Given the description of an element on the screen output the (x, y) to click on. 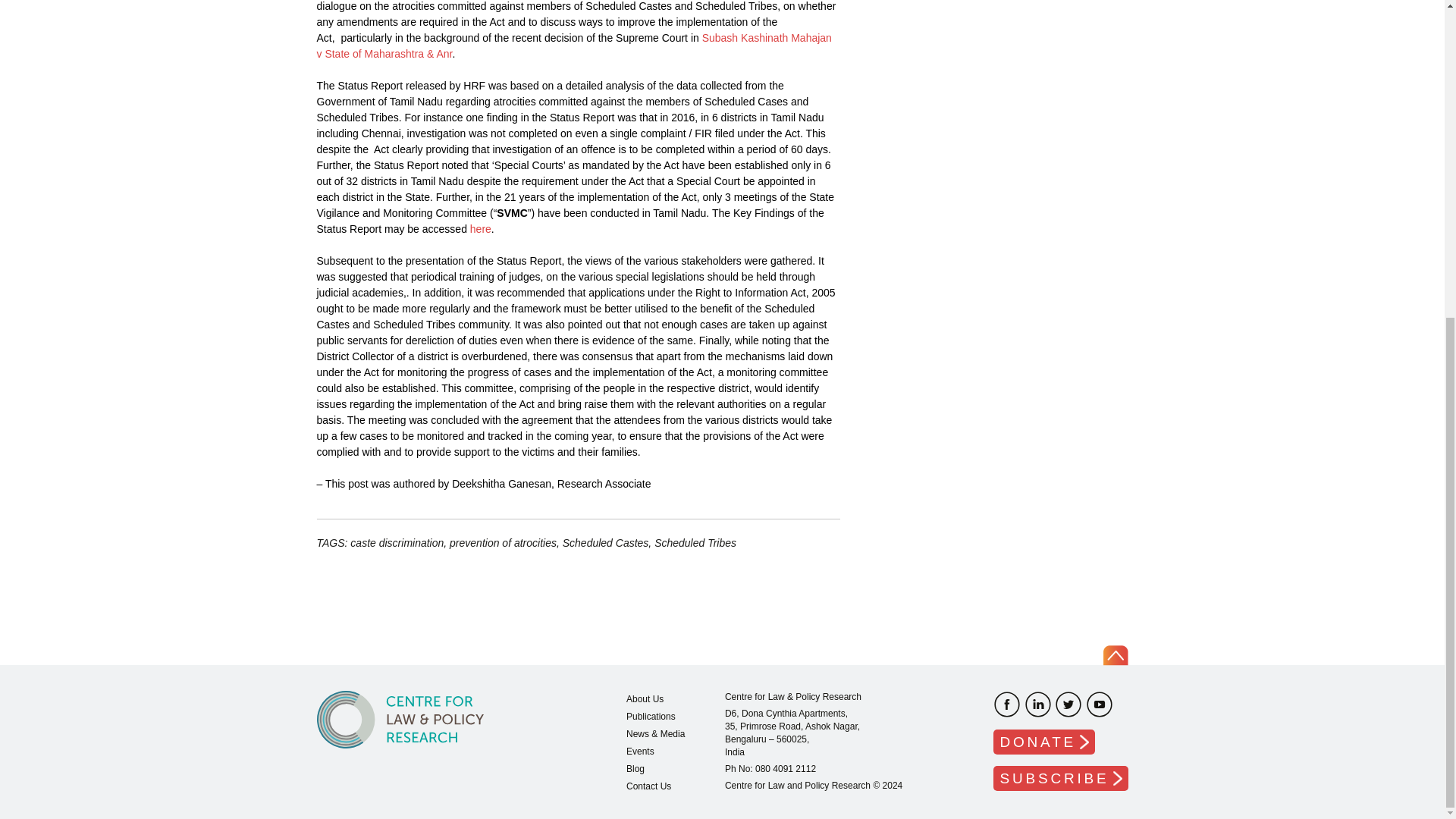
CLPR (400, 718)
Twitter (1067, 703)
Youtube (1099, 703)
LinkedIn (1038, 703)
Facebook (1006, 703)
